Given the description of an element on the screen output the (x, y) to click on. 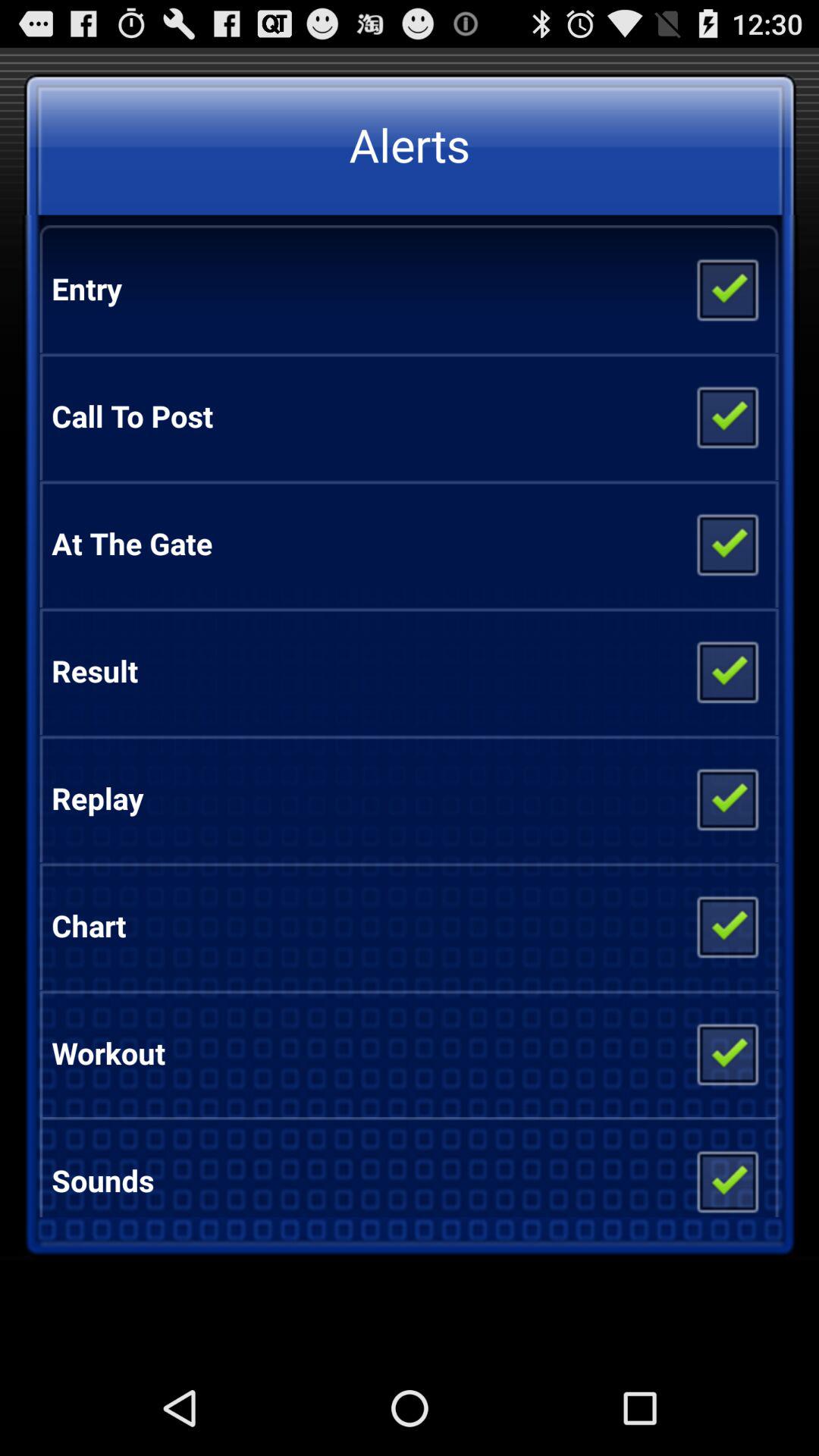
select the item to the right of chart (726, 925)
